Given the description of an element on the screen output the (x, y) to click on. 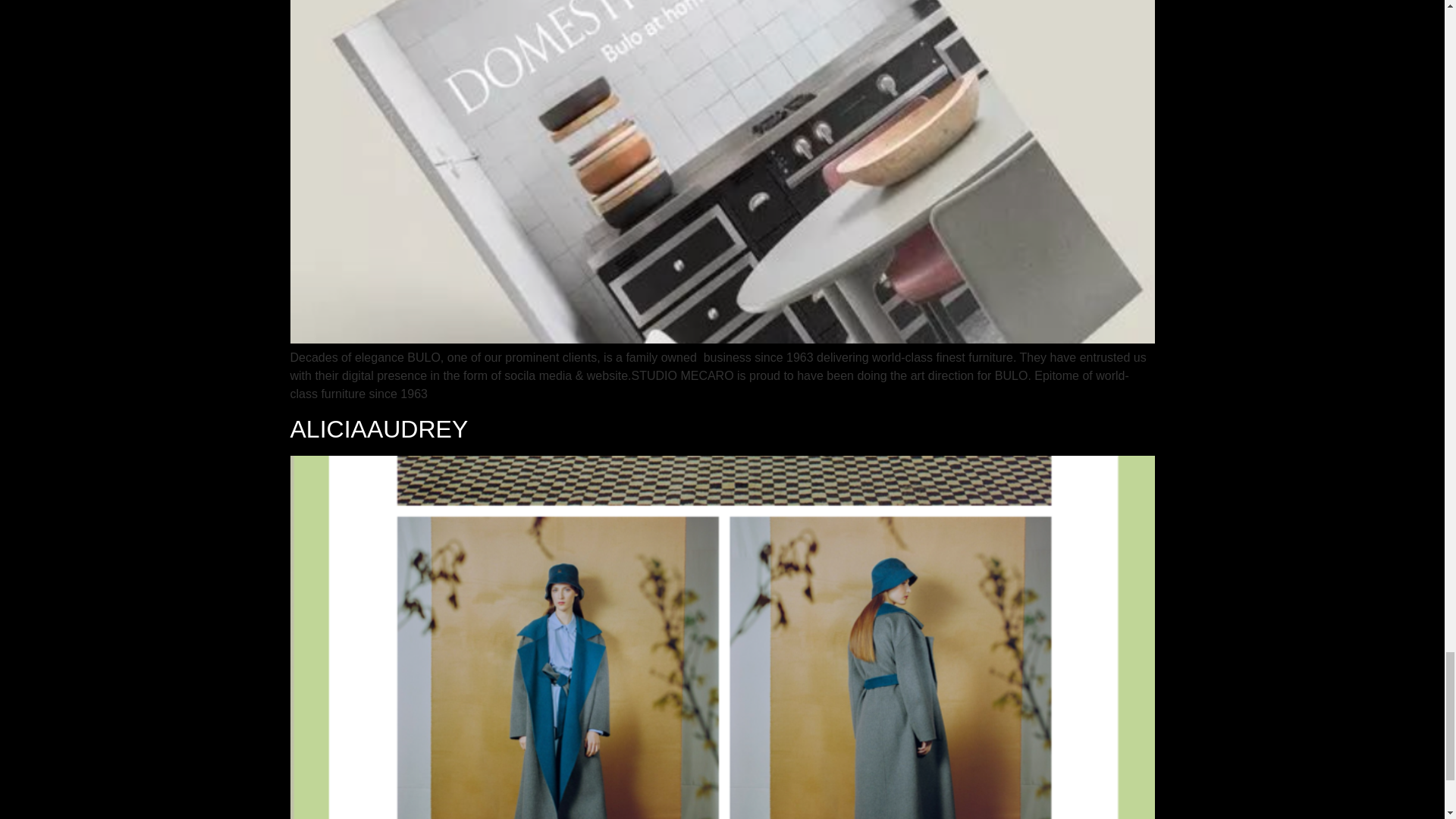
ALICIAAUDREY (378, 429)
